Given the description of an element on the screen output the (x, y) to click on. 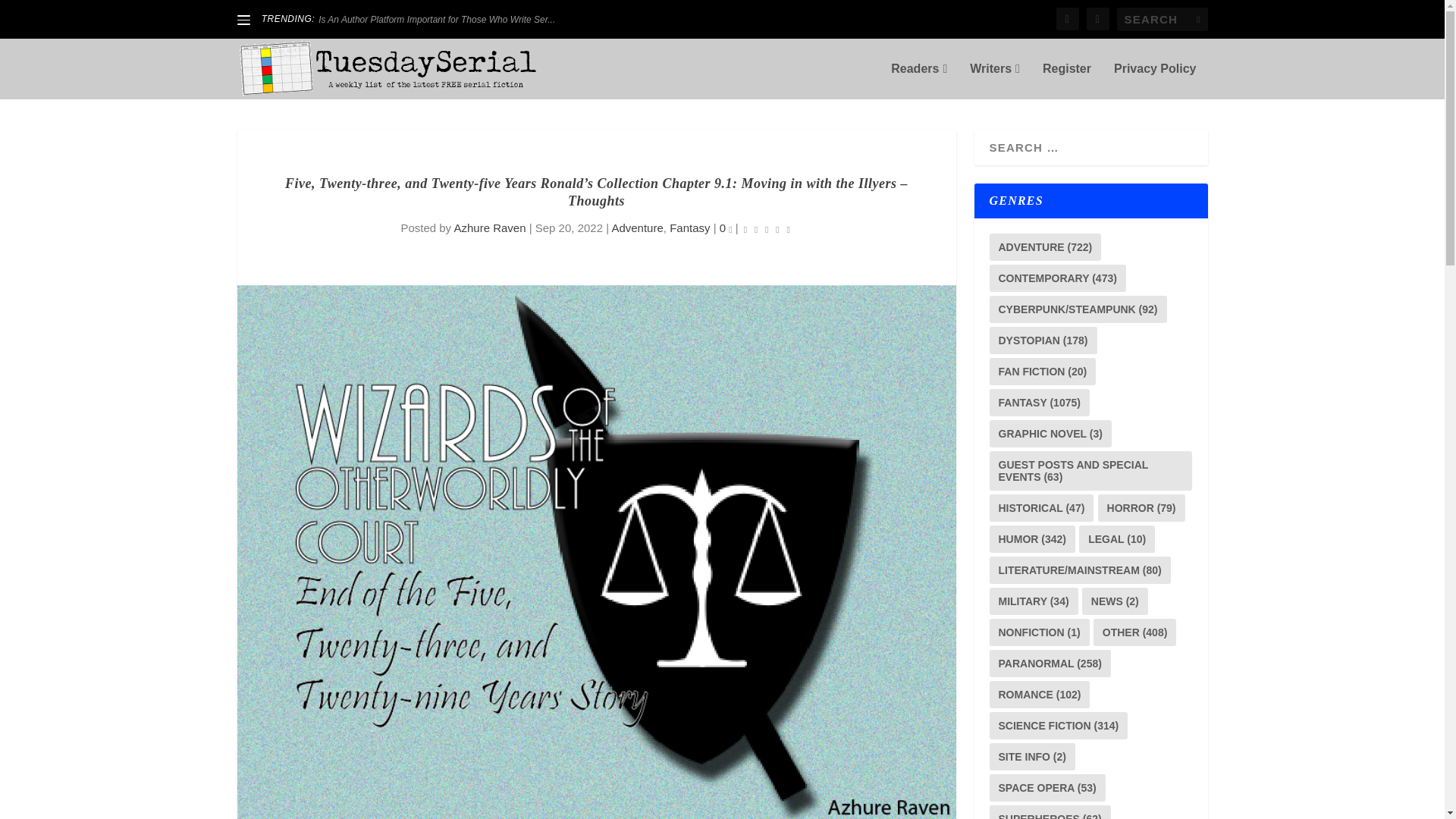
Is An Author Platform Important for Those Who Write Ser... (436, 19)
0 (725, 227)
Azhure Raven (488, 227)
Search for: (1161, 19)
Writers (994, 81)
Readers (919, 81)
Rating: 0.00 (766, 228)
Privacy Policy (1154, 81)
Adventure (636, 227)
Posts by Azhure Raven (488, 227)
